Given the description of an element on the screen output the (x, y) to click on. 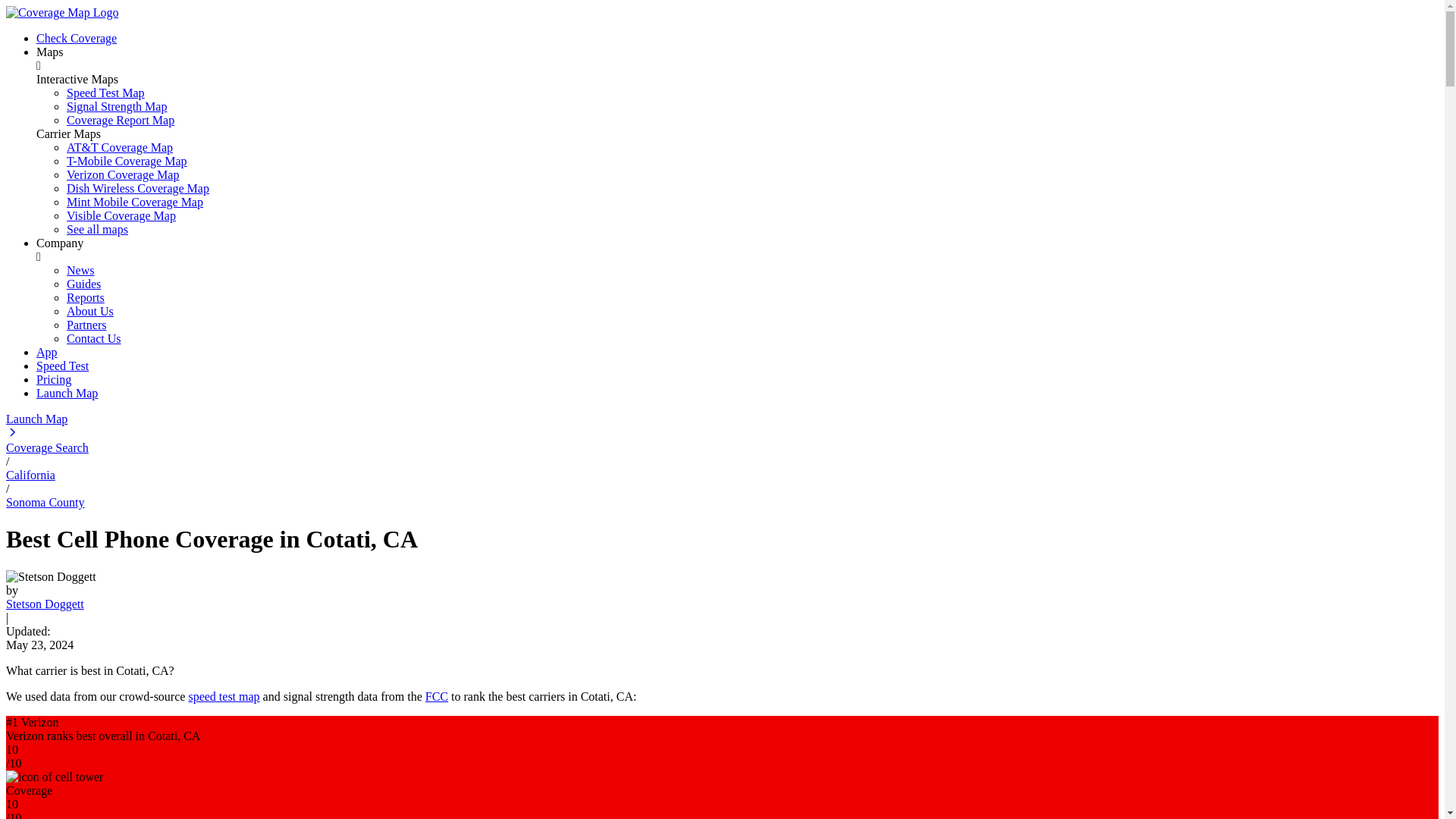
Sonoma County (44, 502)
Verizon Coverage Map (122, 174)
Coverage Search (46, 447)
speed test map (223, 696)
Visible Coverage Map (121, 215)
See all maps (97, 228)
Guides (83, 283)
FCC (436, 696)
Coverage Report Map (120, 119)
Stetson Doggett (44, 603)
News (80, 269)
Speed Test Map (105, 92)
Partners (86, 324)
App (47, 351)
Reports (85, 297)
